Given the description of an element on the screen output the (x, y) to click on. 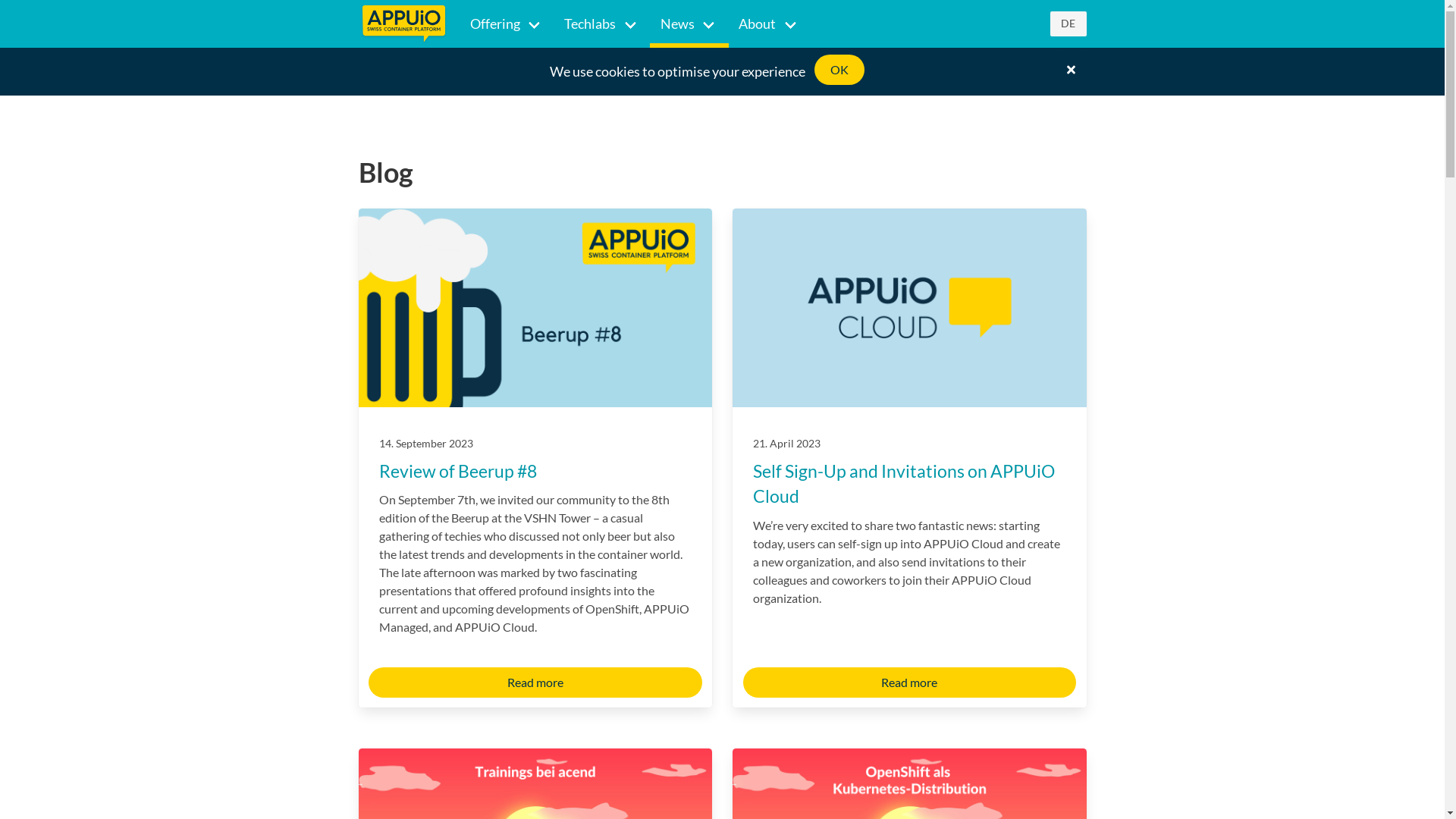
OK Element type: text (839, 69)
News Element type: text (688, 23)
Offering Element type: text (506, 23)
About Element type: text (768, 23)
Self Sign-Up and Invitations on APPUiO Cloud Element type: text (903, 484)
DE Element type: text (1067, 24)
Read more Element type: text (535, 682)
Read more Element type: text (909, 682)
Review of Beerup #8 Element type: text (457, 471)
Techlabs Element type: text (601, 23)
